Given the description of an element on the screen output the (x, y) to click on. 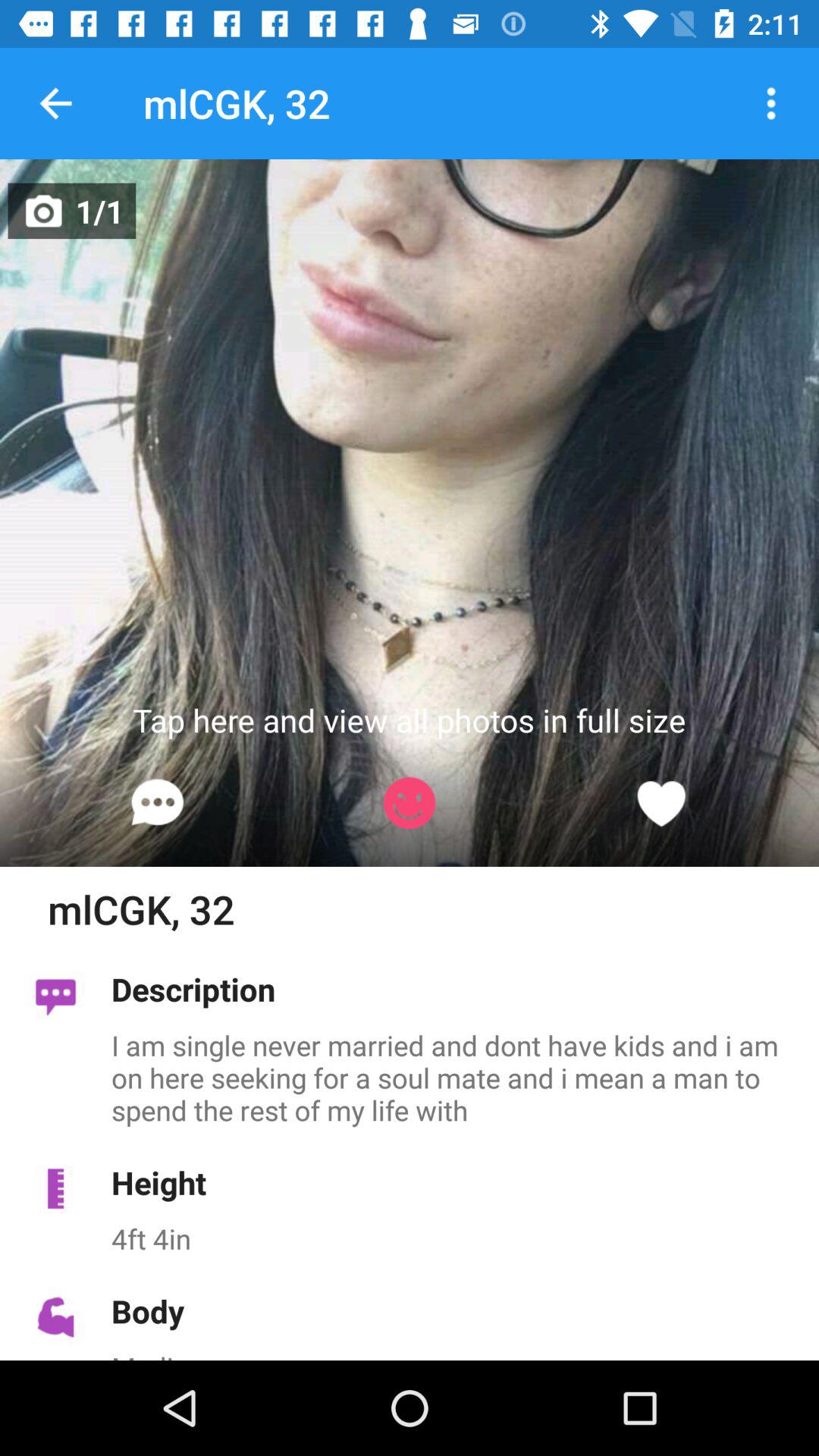
launch icon to the right of mlcgk, 32 icon (771, 103)
